Given the description of an element on the screen output the (x, y) to click on. 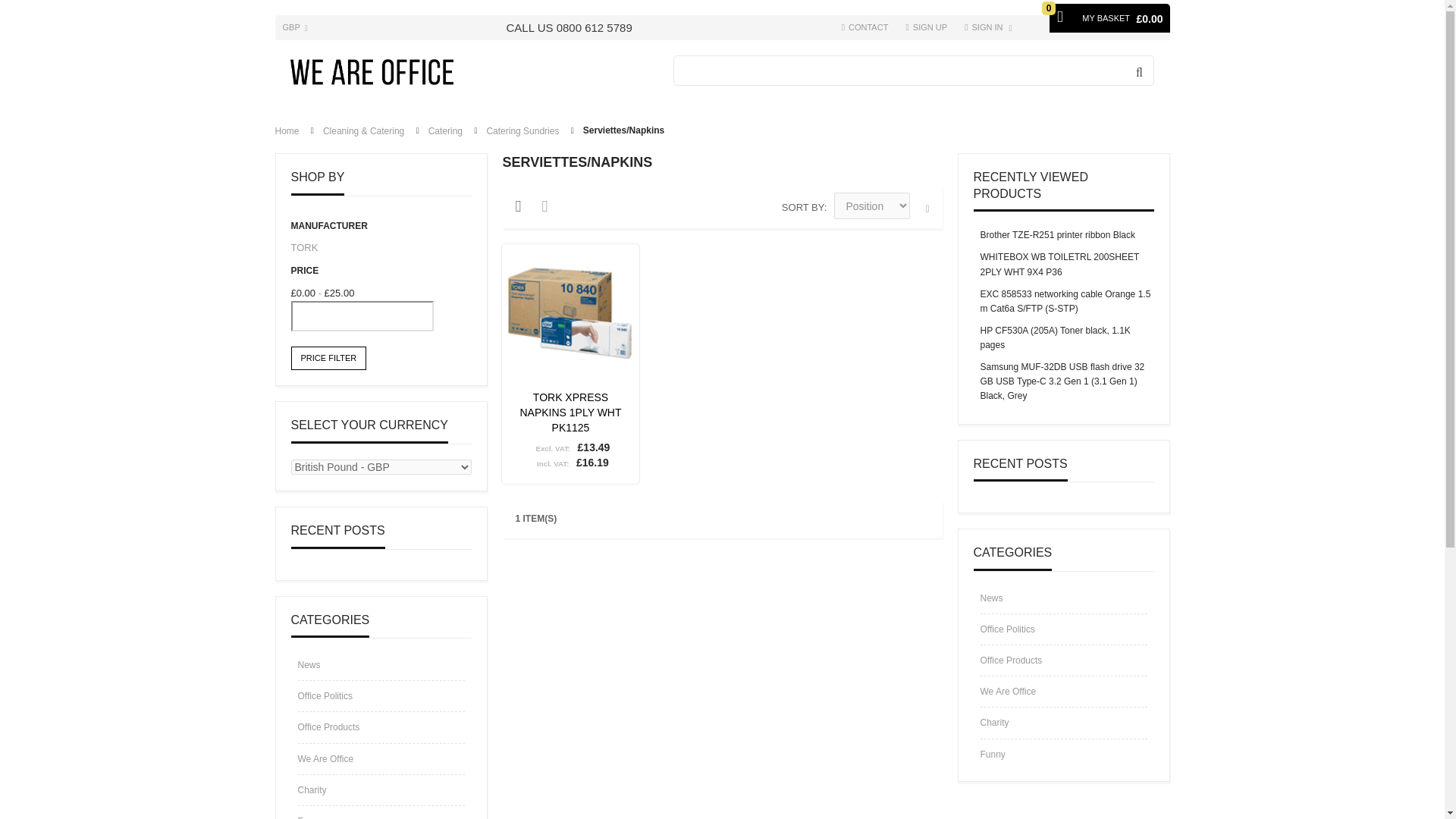
TORK XPRESS NAPKINS 1PLY WHT PK1125 (571, 313)
TORK XPRESS NAPKINS 1PLY WHT PK1125 (570, 412)
Select Your Currency (381, 467)
Grid (526, 210)
GBP (295, 27)
CONTACT (864, 27)
We Are Office (370, 67)
SIGN IN (988, 27)
List (552, 210)
Go to Home Page (286, 131)
Select Your Currency (295, 27)
SIGN UP (926, 27)
